Given the description of an element on the screen output the (x, y) to click on. 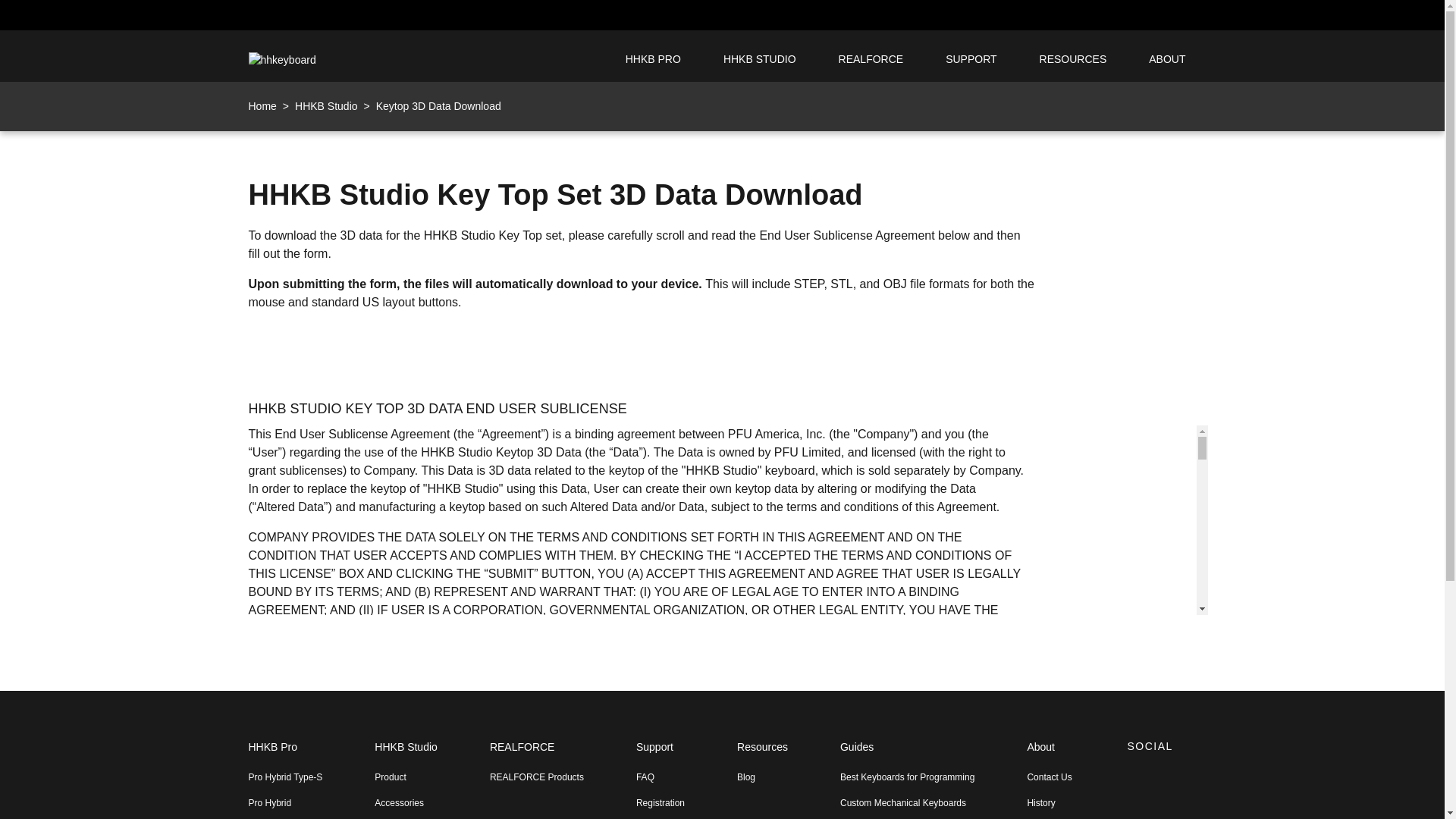
Browse Support (970, 59)
Browse Pro Hybrid (285, 802)
Browse About (1166, 59)
HHKB PRO (652, 59)
RESOURCES (1073, 59)
SUPPORT (970, 59)
REALFORCE (871, 59)
Browse HHKB Pro (285, 754)
Browse HHKB Studio (405, 754)
Login (1140, 15)
Browse Pro Hybrid Type-S (285, 776)
HHKB STUDIO (759, 59)
Browse Resources (1073, 59)
Browse HHKB Studio (759, 59)
ABOUT (1166, 59)
